Given the description of an element on the screen output the (x, y) to click on. 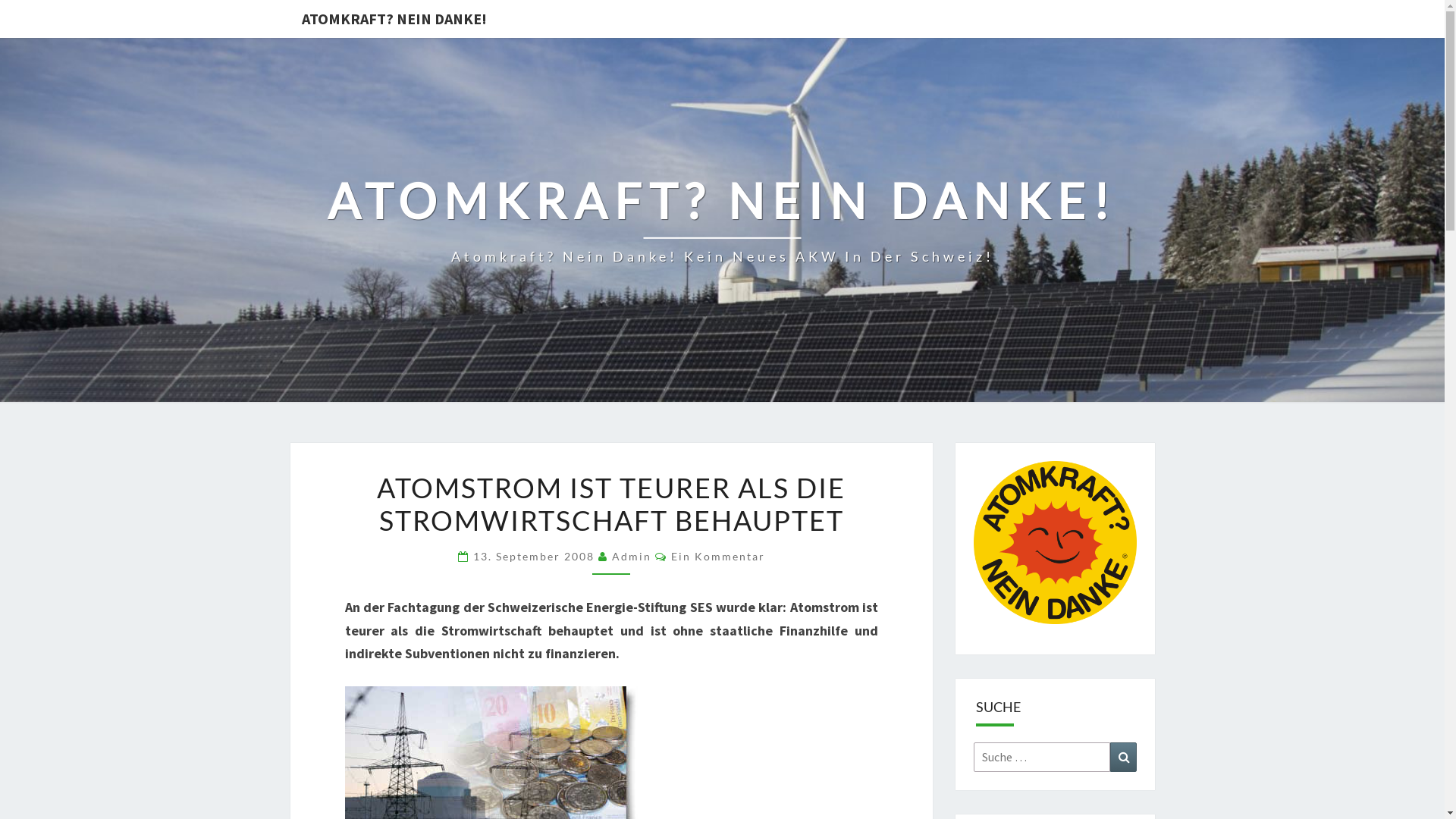
Admin Element type: text (631, 555)
Ein Kommentar Element type: text (718, 555)
ATOMKRAFT? NEIN DANKE! Element type: text (393, 18)
13. September 2008 Element type: text (535, 555)
Suchen Element type: text (1123, 756)
Suche nach: Element type: hover (1041, 756)
